Given the description of an element on the screen output the (x, y) to click on. 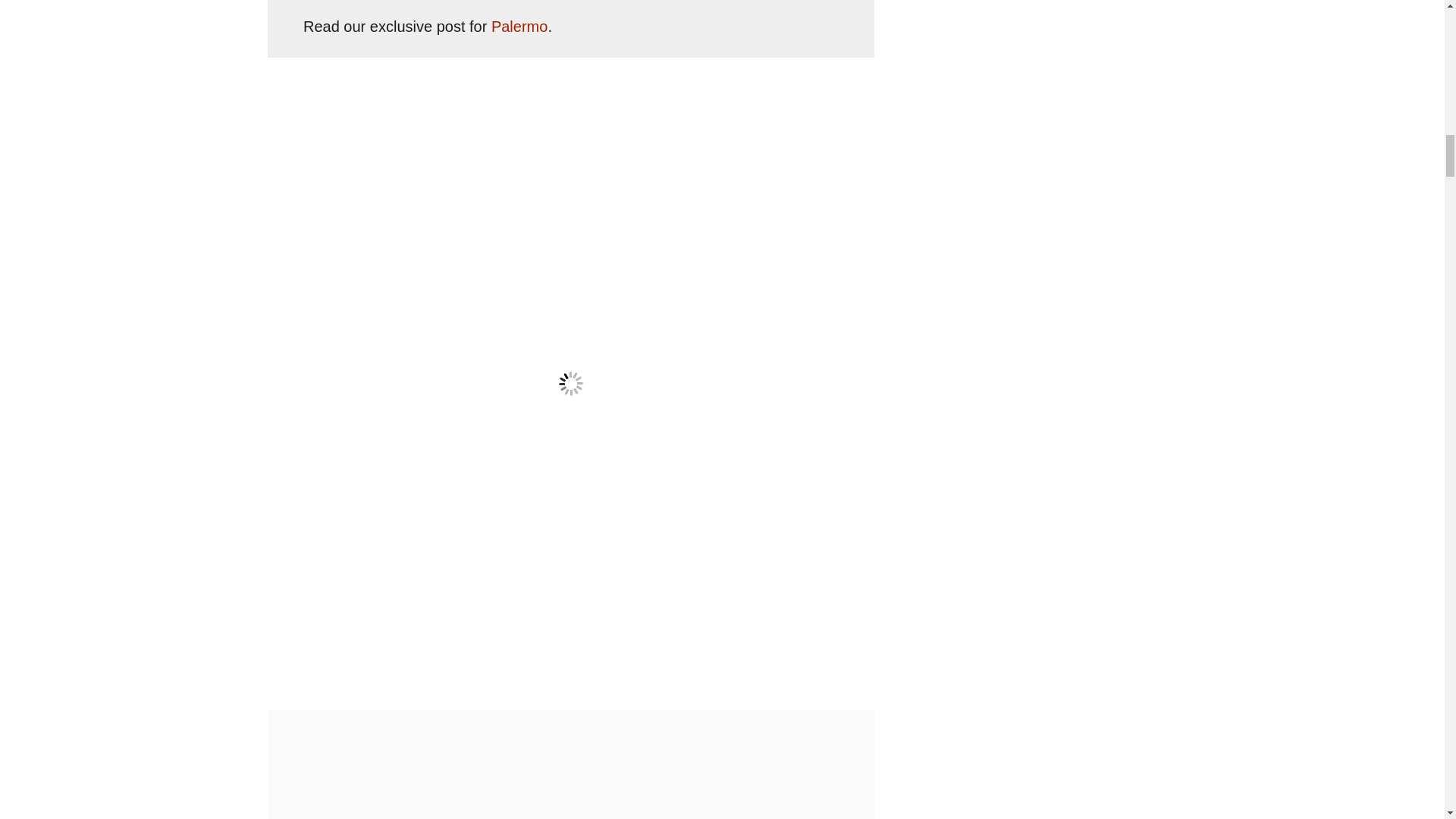
Palermo (519, 26)
